Given the description of an element on the screen output the (x, y) to click on. 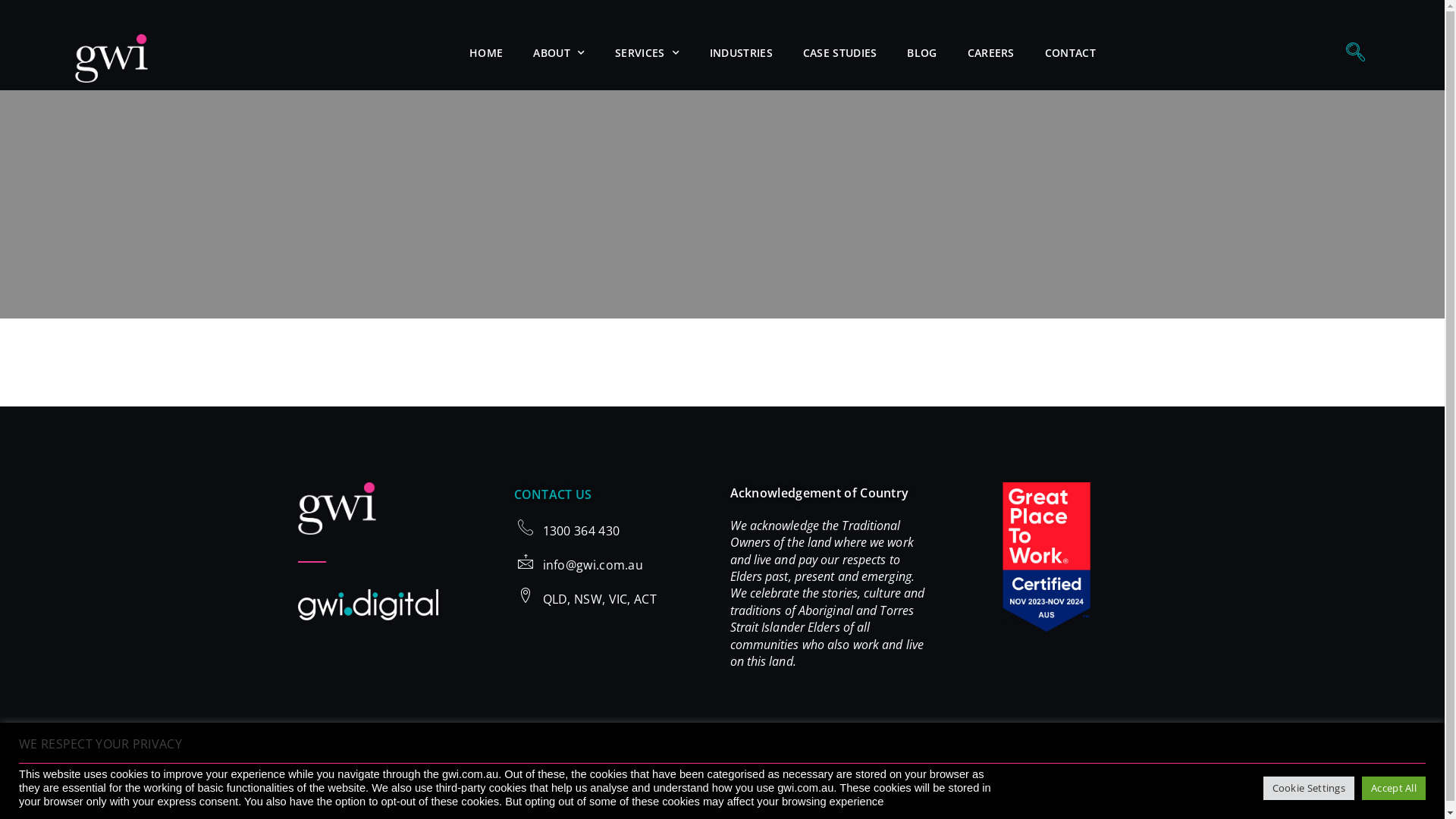
GWI_2023_Certification_Badge Element type: hover (1046, 556)
ABOUT Element type: text (558, 52)
CASE STUDIES Element type: text (839, 52)
BLOG Element type: text (921, 52)
HOME Element type: text (485, 52)
Cookie Settings Element type: text (1309, 788)
Accept All Element type: text (1393, 788)
CONTACT Element type: text (1069, 52)
PRIVACY POLICY Element type: text (515, 776)
Search Element type: text (722, 21)
CONTACT US Element type: text (553, 494)
CAREERS Element type: text (990, 52)
SERVICES Element type: text (646, 52)
TERMS OF USE Element type: text (606, 776)
INDUSTRIES Element type: text (740, 52)
